Given the description of an element on the screen output the (x, y) to click on. 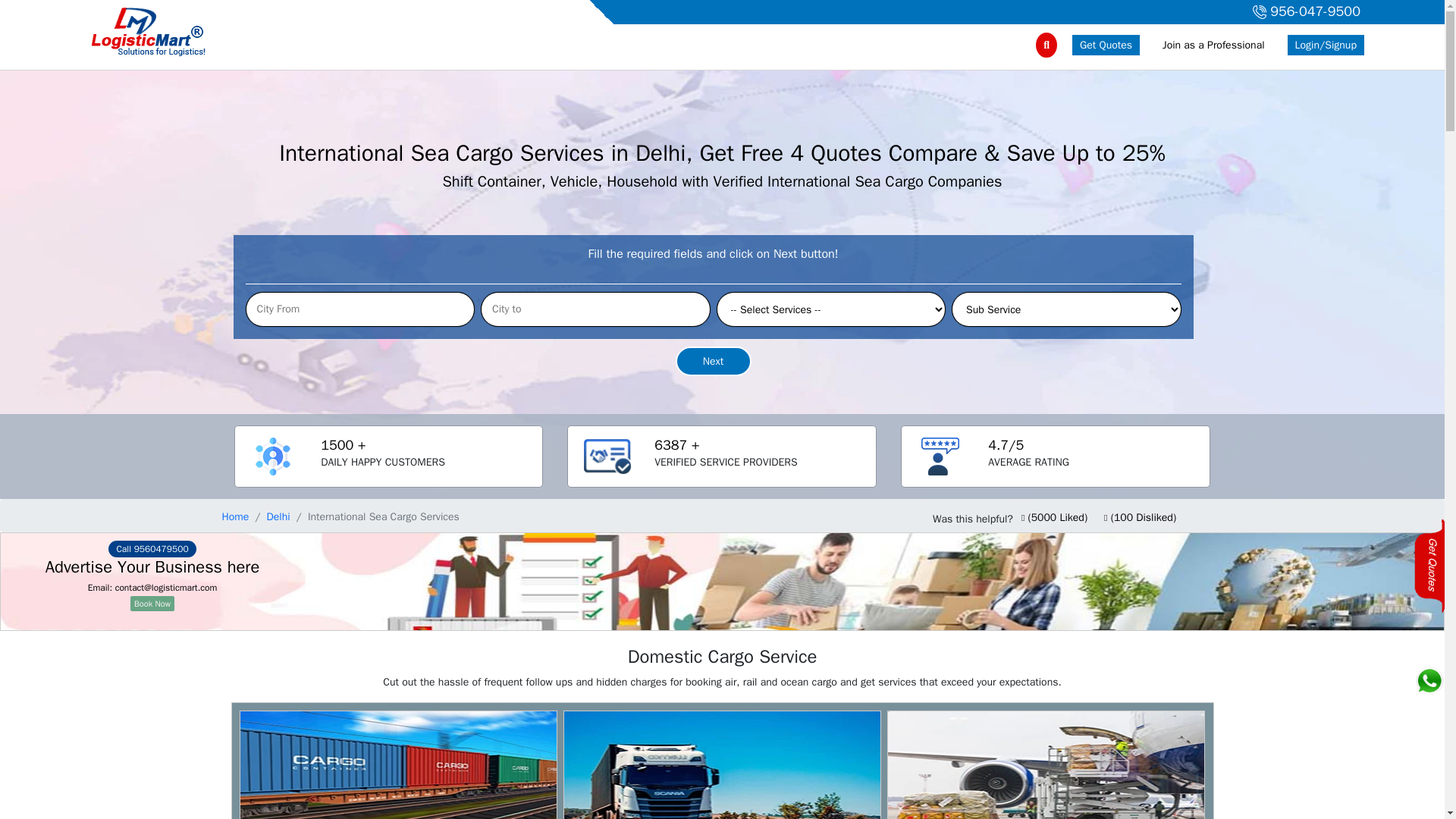
Get Quotes (1105, 45)
Next (713, 360)
956-047-9500 (1304, 11)
Delhi (277, 516)
Join as a Professional (1212, 45)
Book Now (152, 603)
Home (234, 516)
